Given the description of an element on the screen output the (x, y) to click on. 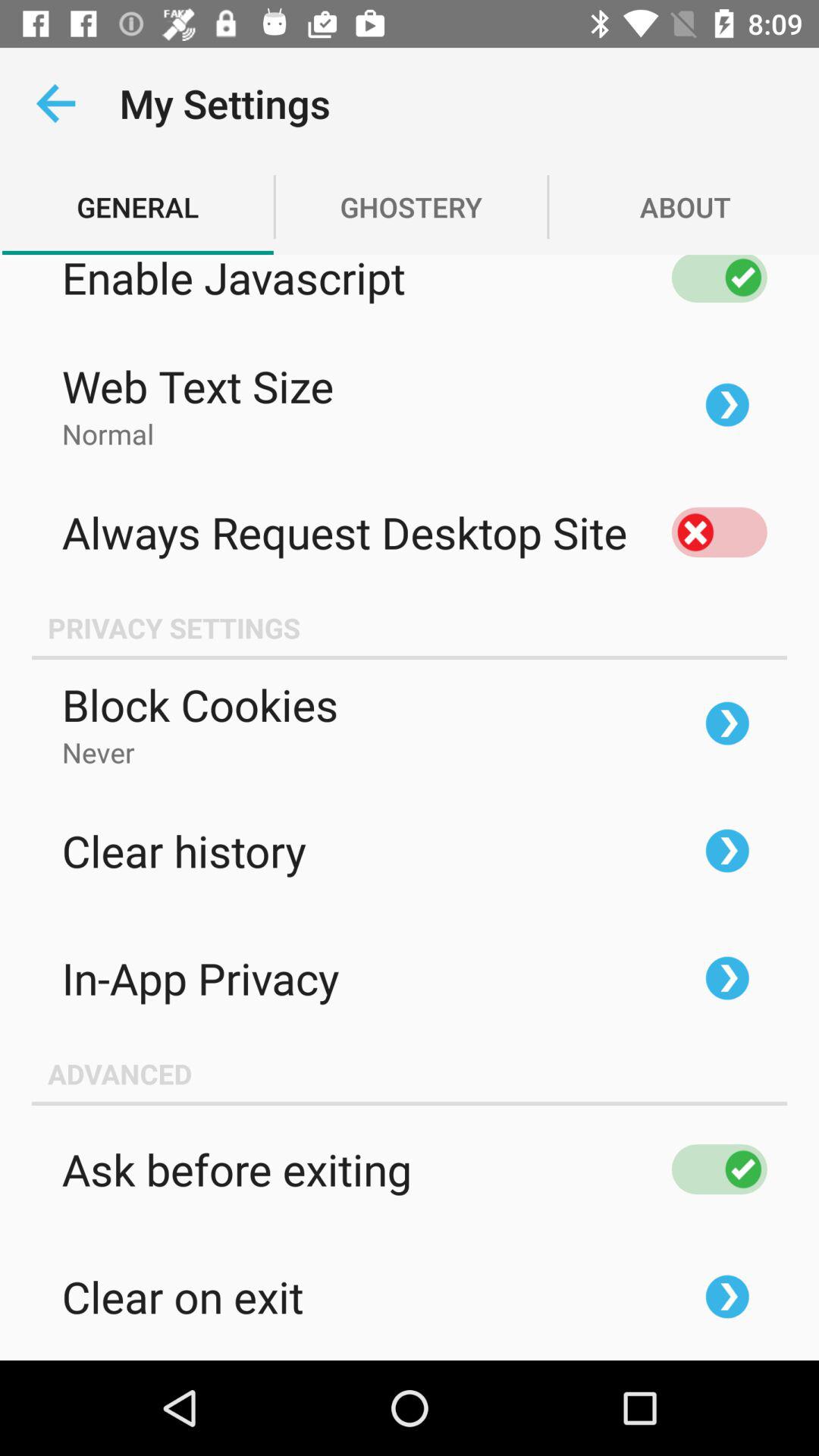
jump to advanced (409, 1073)
